Given the description of an element on the screen output the (x, y) to click on. 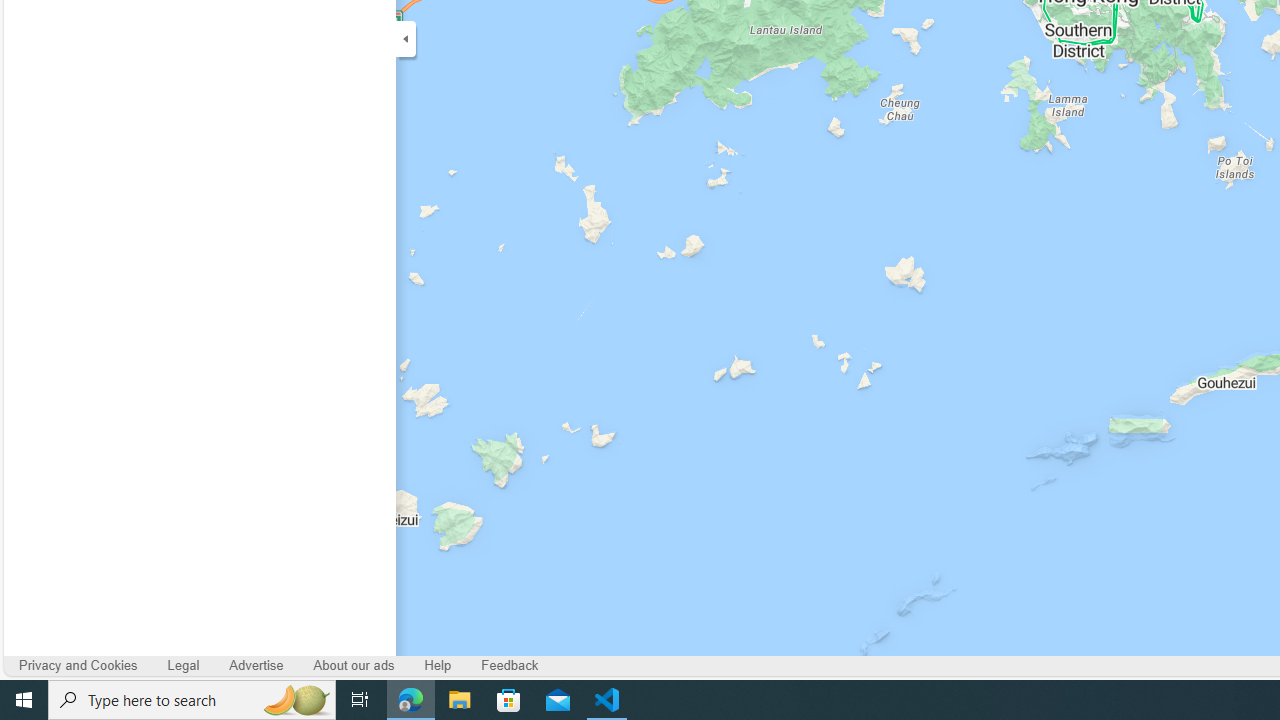
Privacy and Cookies (78, 665)
Feedback (509, 665)
About our ads (354, 665)
Help (437, 665)
Legal (183, 665)
Advertise (256, 665)
About our ads (353, 665)
Expand/Collapse Cards (405, 38)
Help (438, 665)
Privacy and Cookies (78, 665)
Legal (182, 665)
Advertise (256, 665)
Feedback (509, 665)
